Given the description of an element on the screen output the (x, y) to click on. 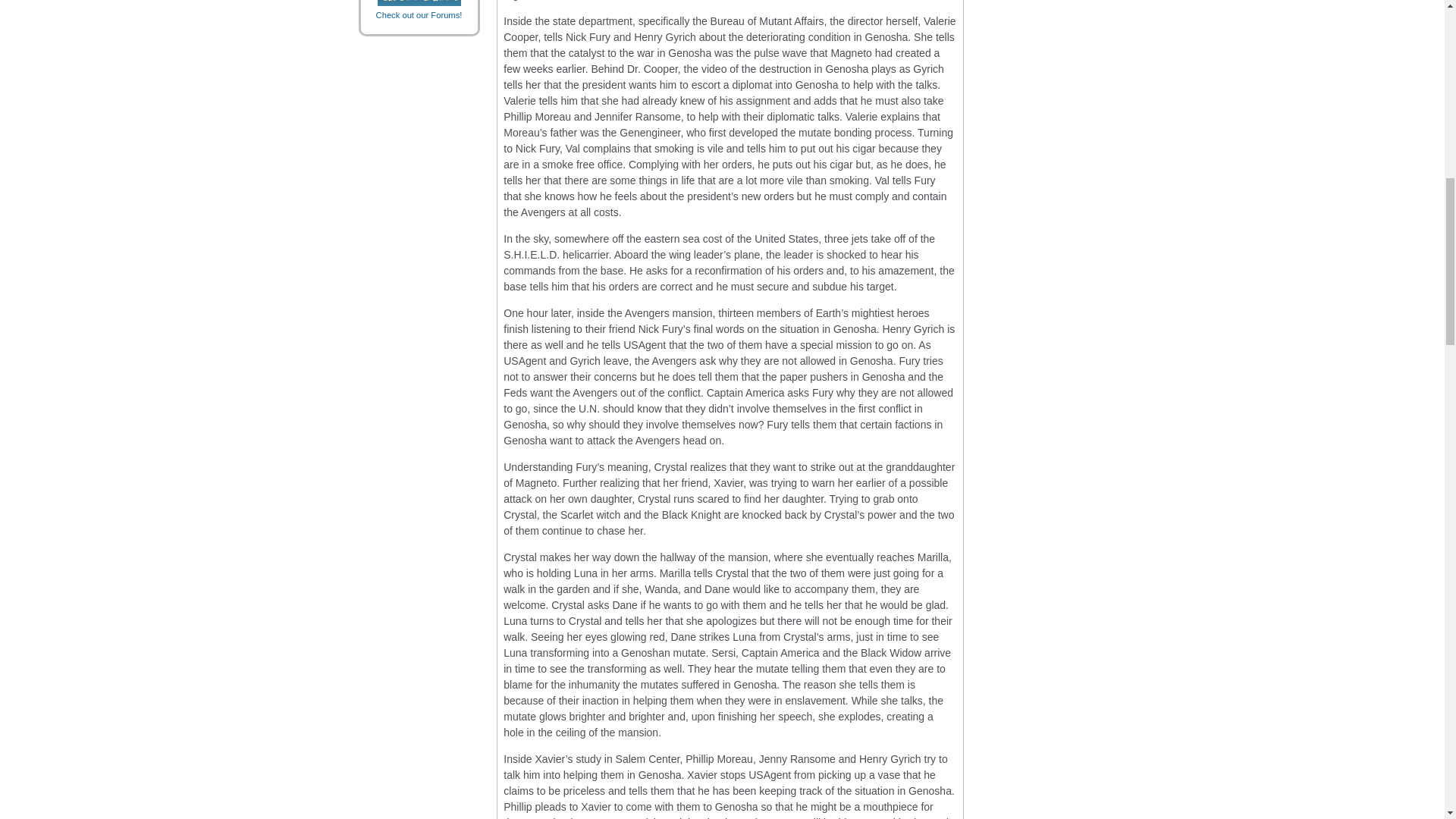
Advertisement (1024, 268)
Check out our Forums! (419, 9)
